Given the description of an element on the screen output the (x, y) to click on. 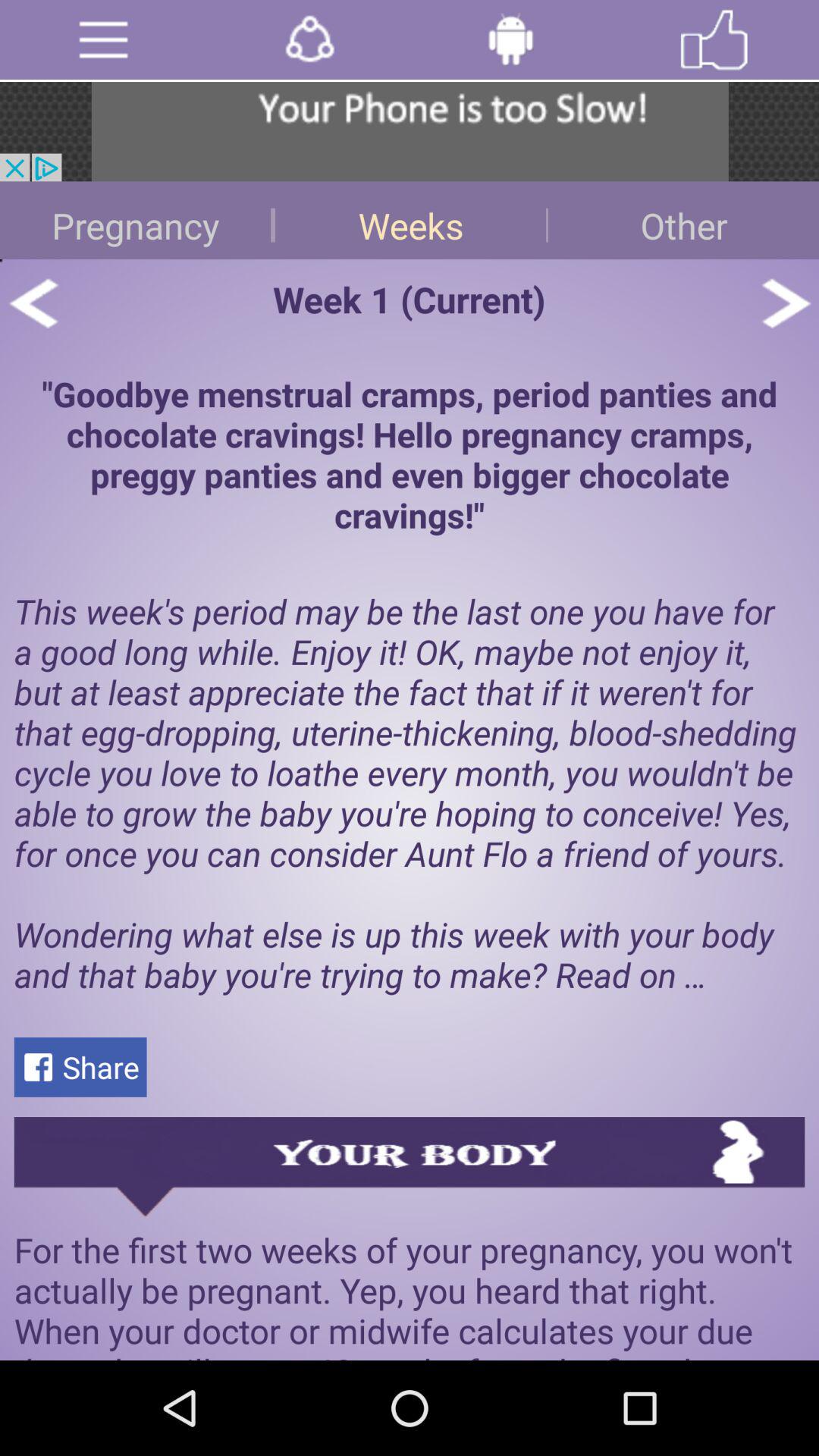
system advertisement (409, 131)
